Given the description of an element on the screen output the (x, y) to click on. 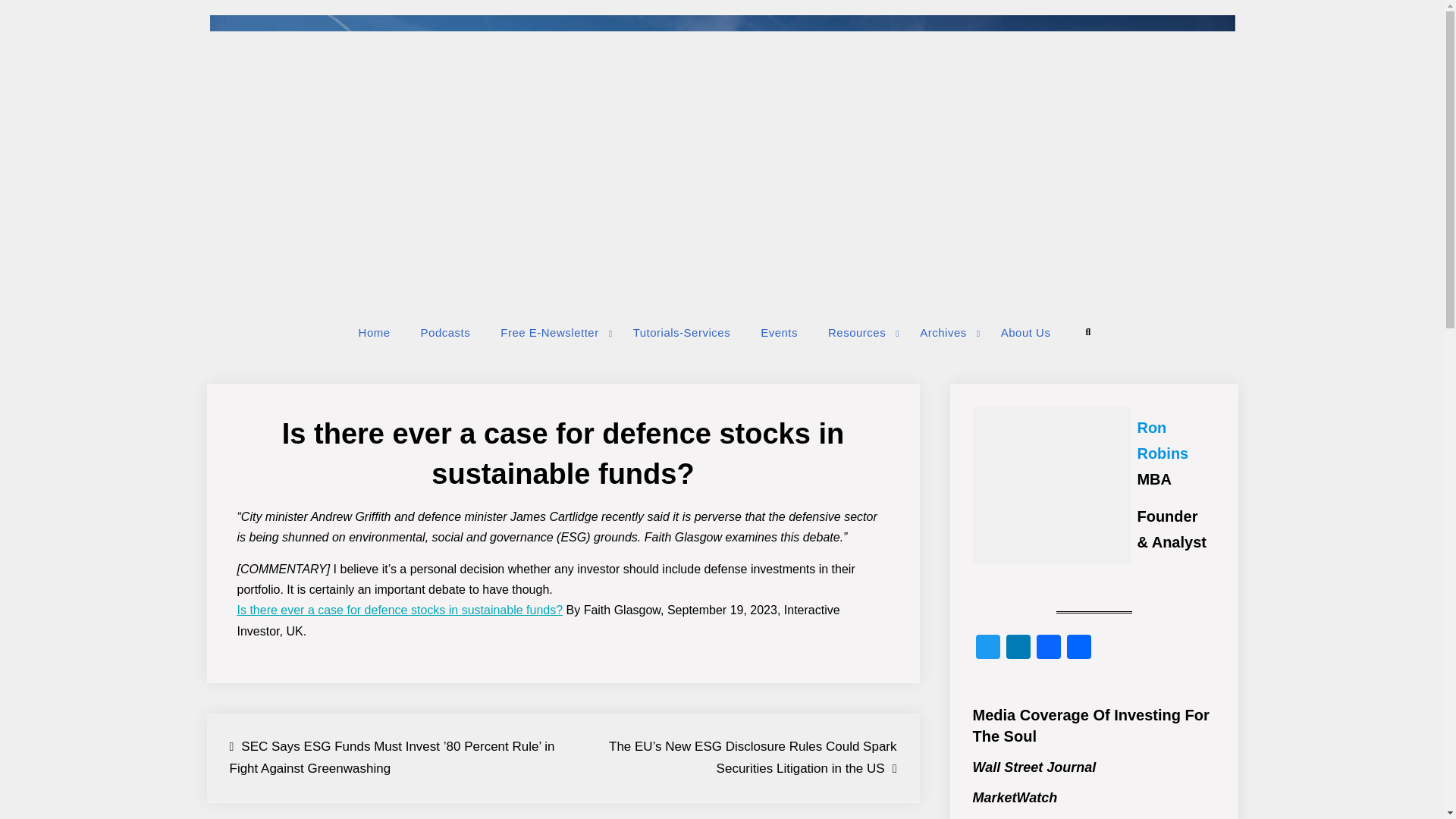
Resources (858, 332)
LinkedIn (1017, 648)
Search (1087, 332)
Podcasts (446, 332)
Twitter (987, 648)
Ron Robins (1162, 440)
Tutorials-Services (681, 332)
Home (374, 332)
Twitter (987, 648)
Free E-Newsletter (550, 332)
Facebook (1047, 648)
LinkedIn (1017, 648)
Archives (944, 332)
About Us (1025, 332)
